Given the description of an element on the screen output the (x, y) to click on. 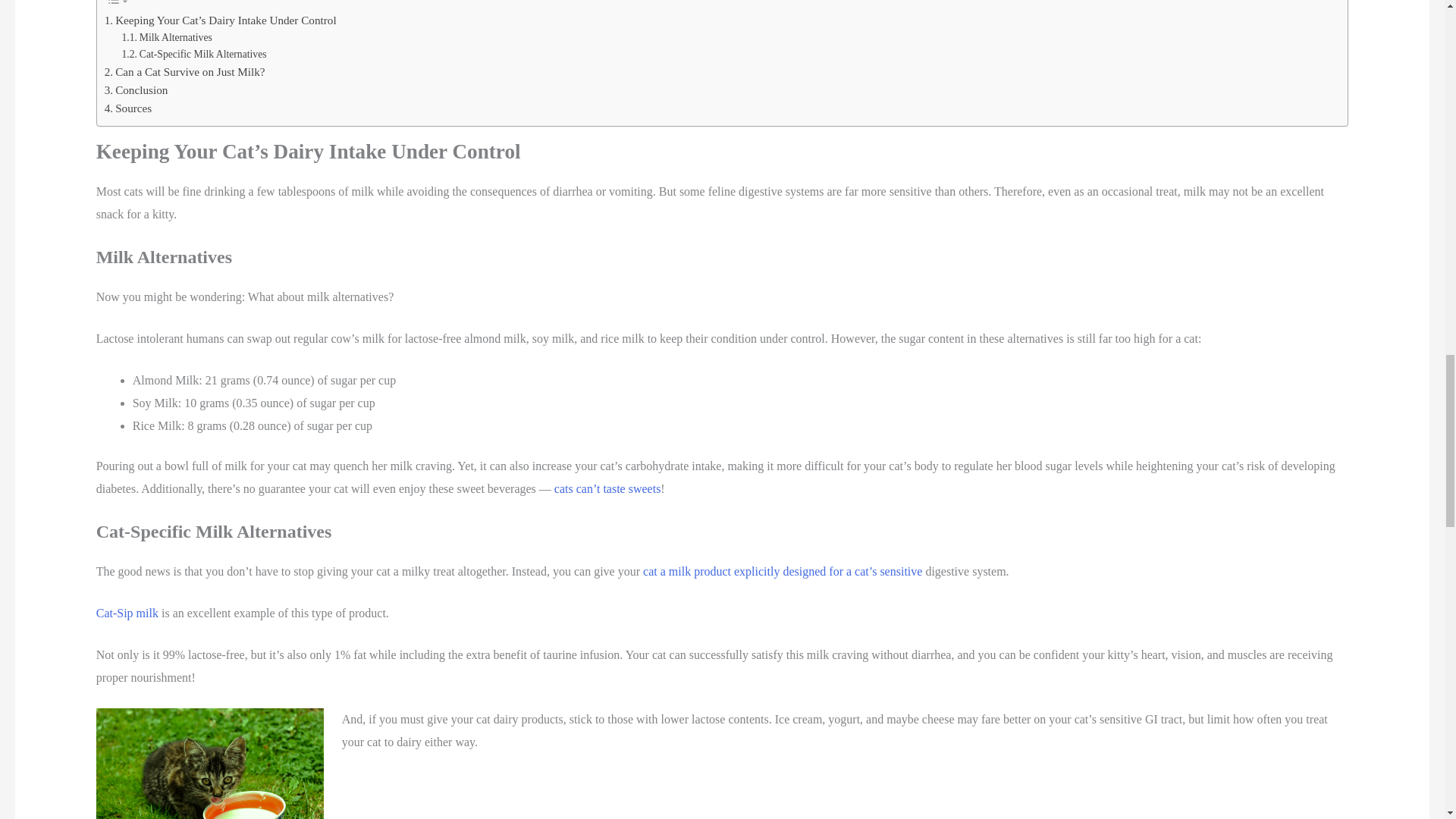
Can a Cat Survive on Just Milk? (184, 72)
Cat-Sip milk (127, 612)
Conclusion (136, 90)
Cat-Specific Milk Alternatives (194, 54)
Sources (128, 108)
Cat-Specific Milk Alternatives (194, 54)
Conclusion (136, 90)
Milk Alternatives (167, 37)
Sources (128, 108)
Can a Cat Survive on Just Milk? (184, 72)
